Given the description of an element on the screen output the (x, y) to click on. 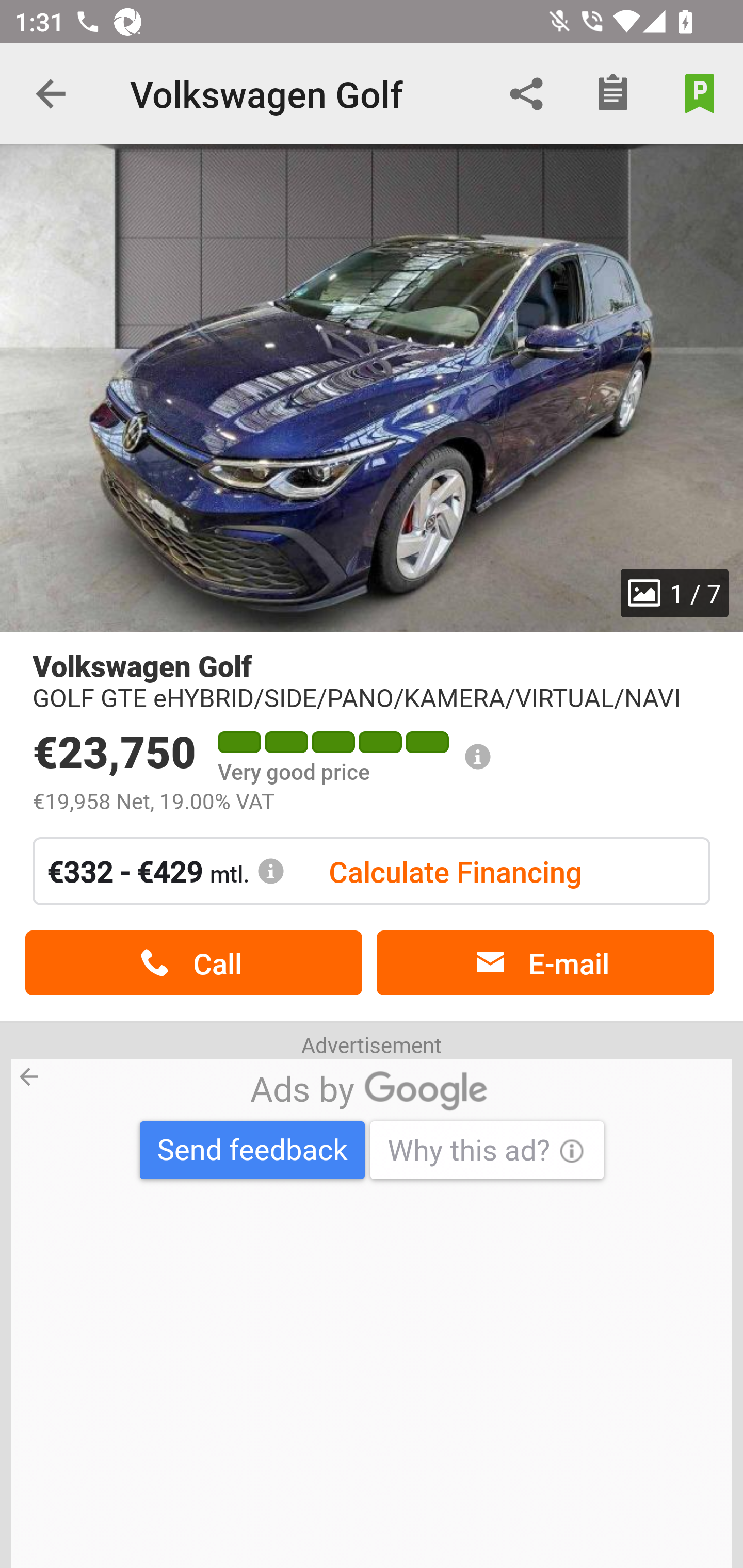
Navigate up (50, 93)
Share via (525, 93)
Checklist (612, 93)
Park (699, 93)
Calculate Financing (454, 870)
€332 - €429 mtl. (165, 870)
Call (193, 963)
E-mail (545, 963)
